Given the description of an element on the screen output the (x, y) to click on. 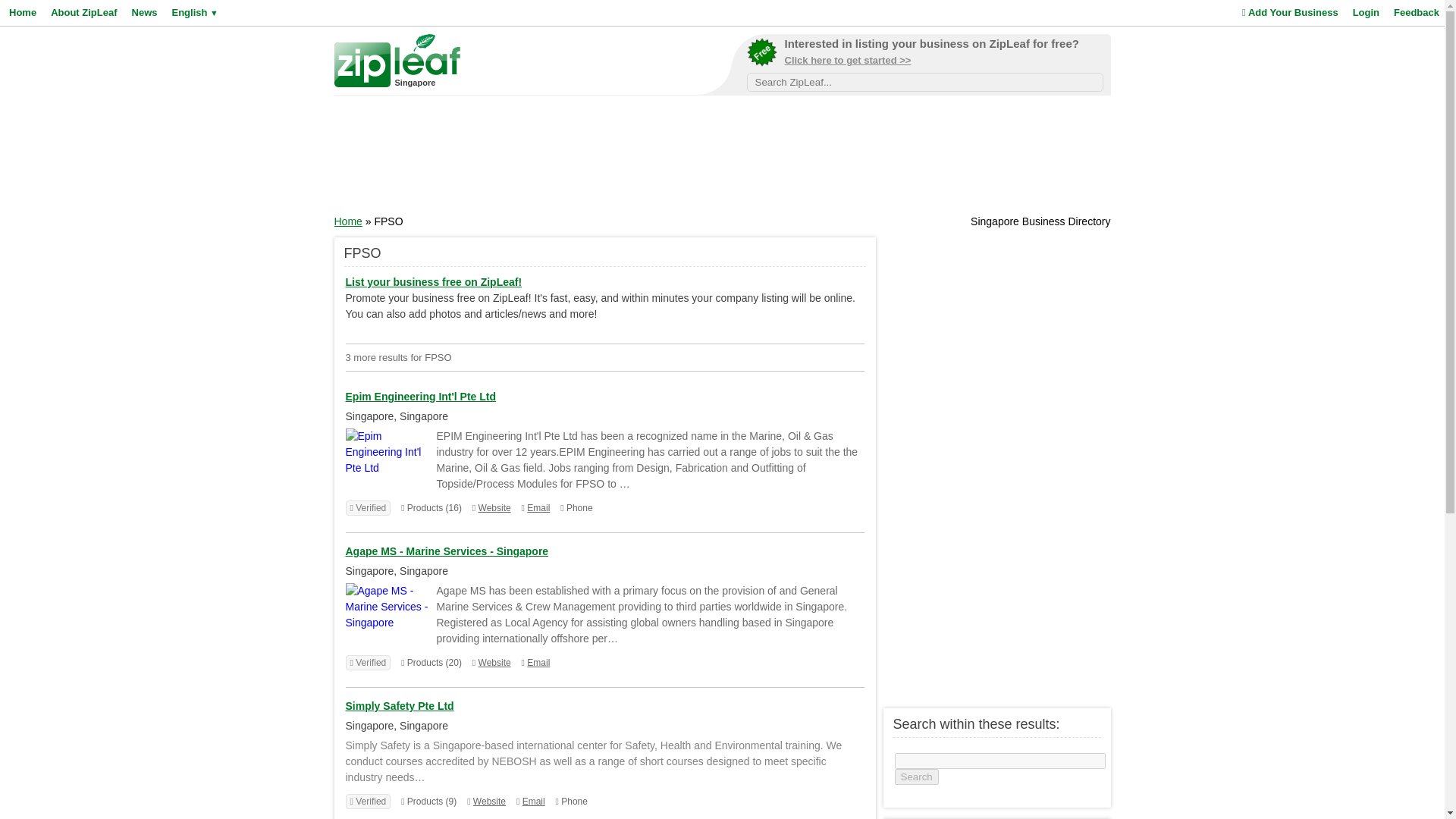
Add Your Business (1288, 12)
Search (917, 776)
Home (20, 12)
Advertisement (722, 160)
Home (347, 221)
Feedback (1414, 12)
Add your business to ZipLeaf (923, 54)
Home (347, 221)
Login (1363, 12)
News (142, 12)
